Given the description of an element on the screen output the (x, y) to click on. 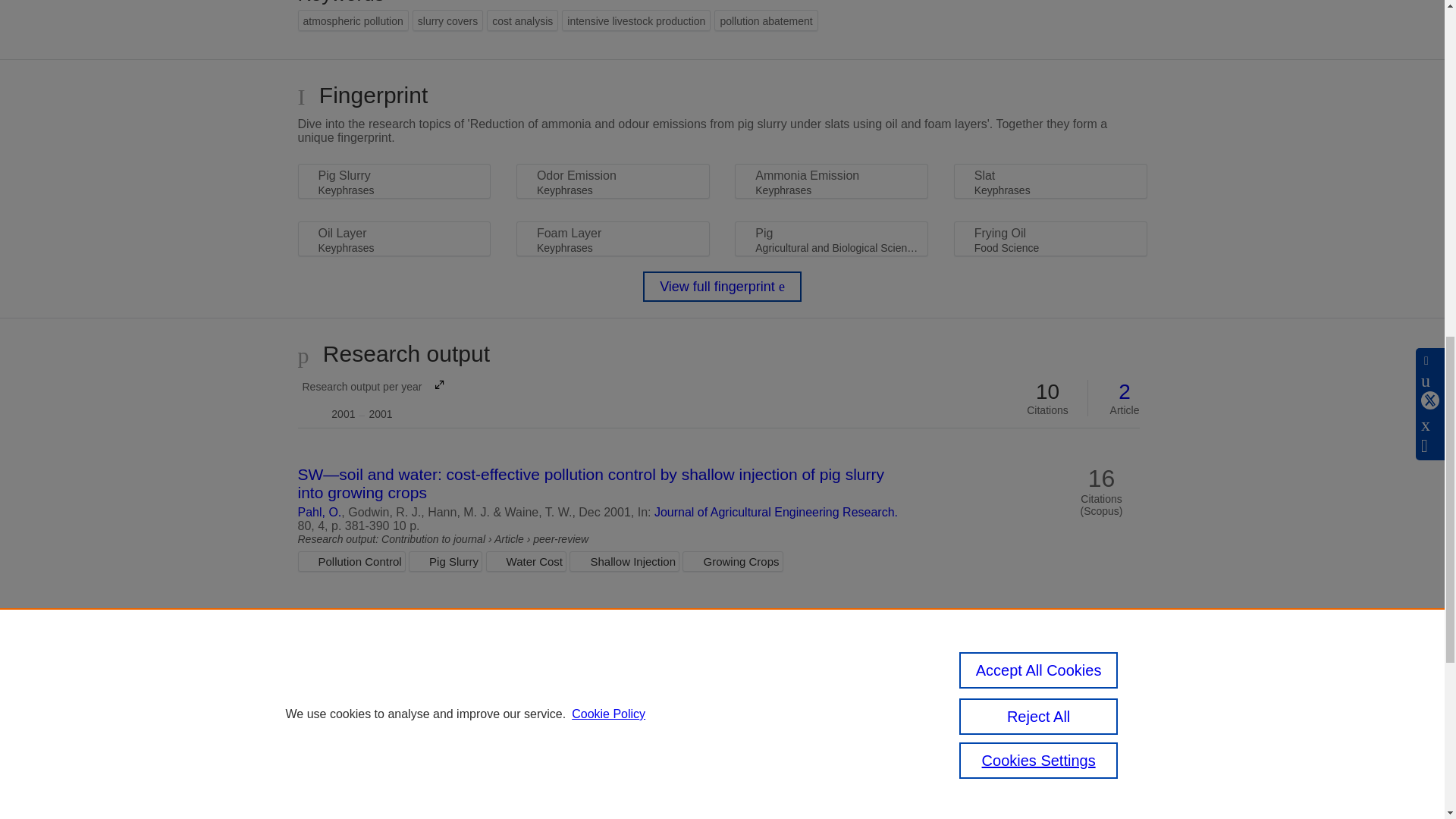
2 (1124, 392)
View full fingerprint (722, 286)
Journal of Agricultural Engineering Research. (775, 512)
Pahl, O. (370, 398)
